Given the description of an element on the screen output the (x, y) to click on. 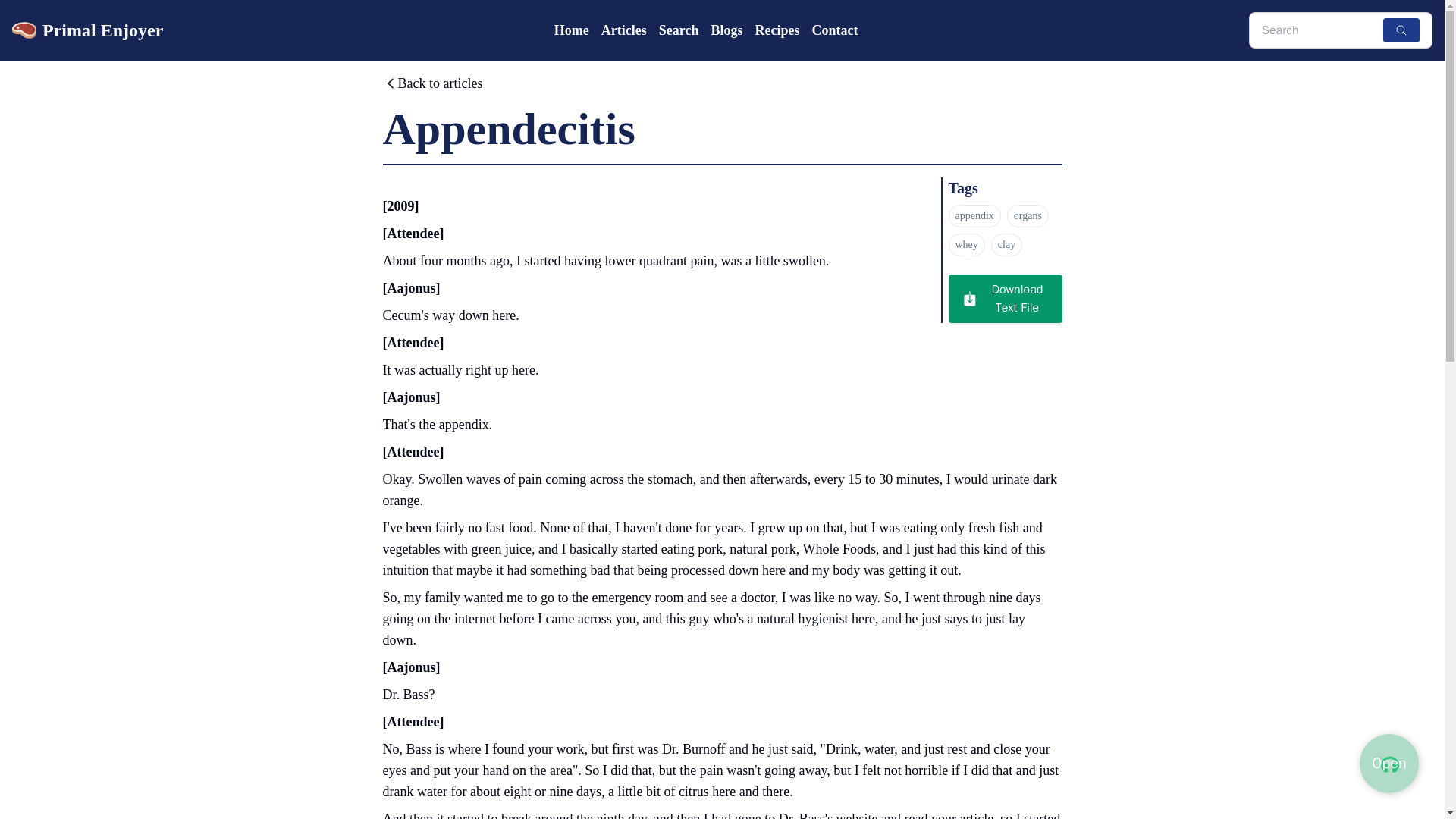
Recipes (776, 29)
Search (678, 29)
Articles (623, 29)
Back to articles (431, 86)
Primal Enjoyer (87, 30)
Home (571, 29)
Contact (833, 29)
Download Text File (1004, 298)
Blogs (726, 29)
